Given the description of an element on the screen output the (x, y) to click on. 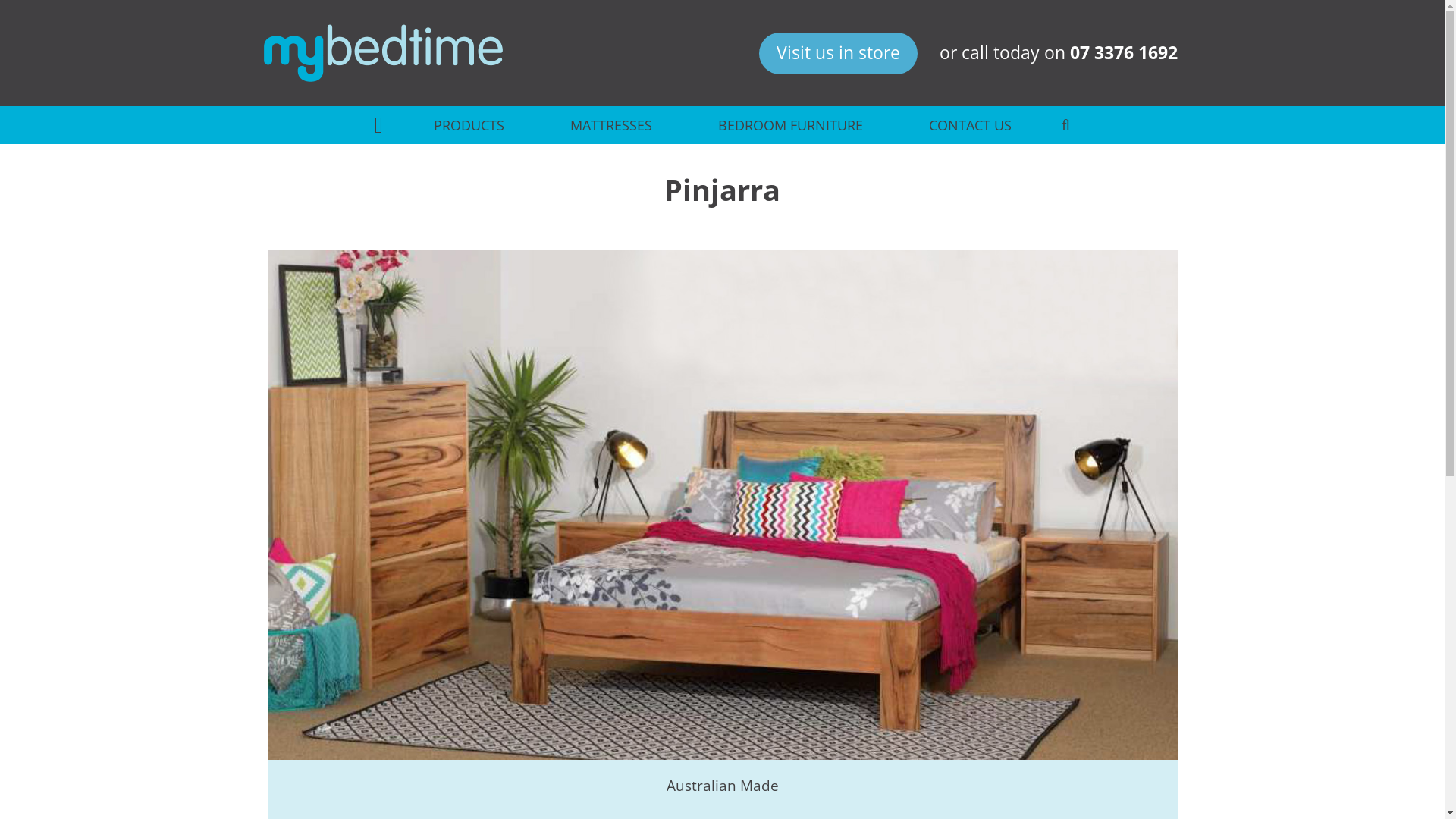
HOME Element type: text (378, 125)
Visit us in store Element type: text (838, 53)
PRODUCTS Element type: text (468, 125)
MATTRESSES Element type: text (611, 125)
CONTACT US Element type: text (969, 125)
SEARCH Element type: text (1065, 125)
BEDROOM FURNITURE Element type: text (789, 125)
Home Element type: text (382, 52)
